Given the description of an element on the screen output the (x, y) to click on. 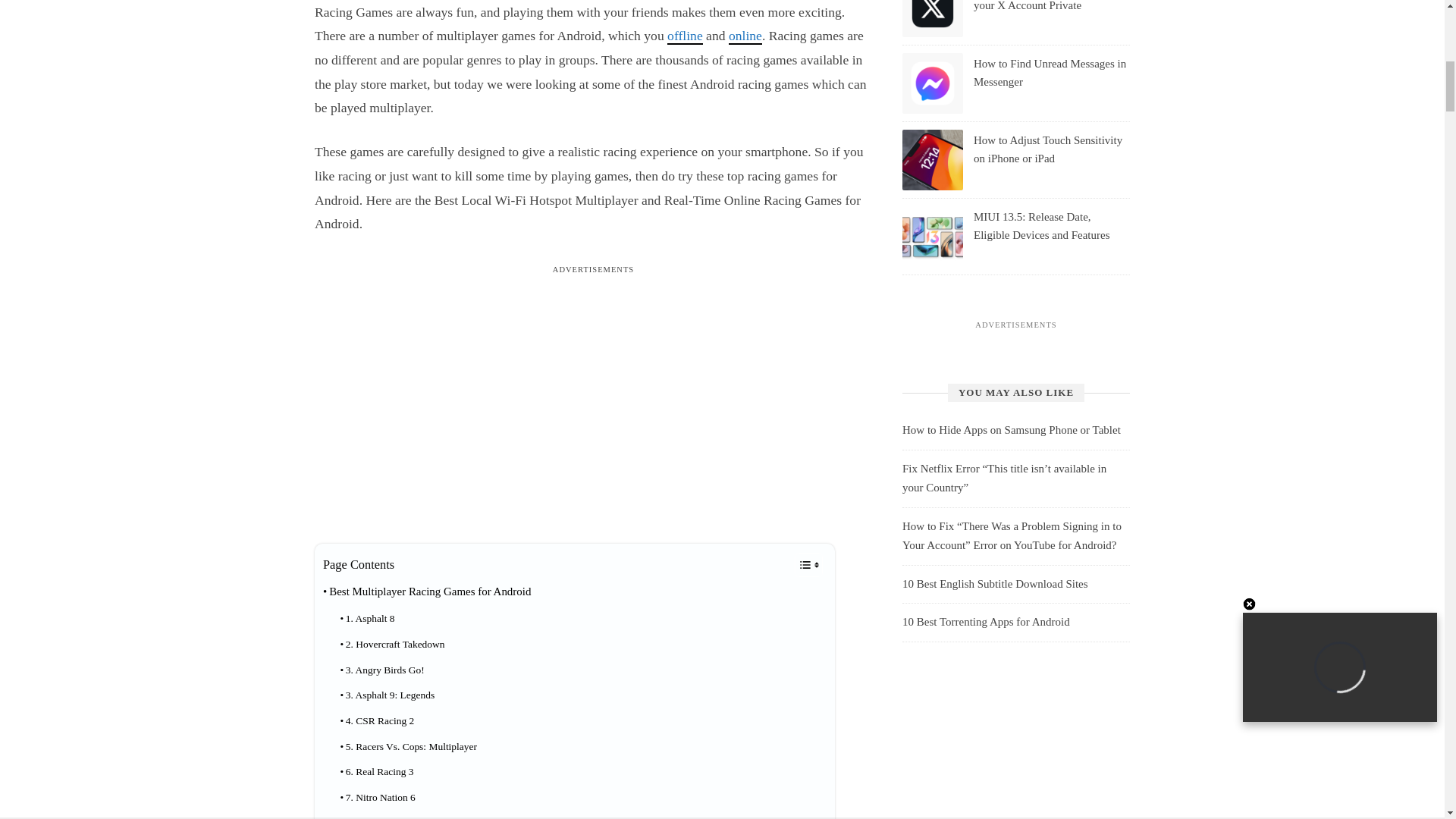
3. Asphalt 9: Legends (386, 695)
offline (684, 36)
5. Racers Vs. Cops: Multiplayer (408, 746)
6. Real Racing 3 (376, 771)
8. Mario Kart Tour (380, 814)
4. CSR Racing 2 (376, 720)
online (745, 36)
7. Nitro Nation 6 (376, 797)
3. Angry Birds Go! (381, 670)
2. Hovercraft Takedown (391, 644)
1. Asphalt 8 (366, 618)
Best Multiplayer Racing Games for Android (427, 592)
